Given the description of an element on the screen output the (x, y) to click on. 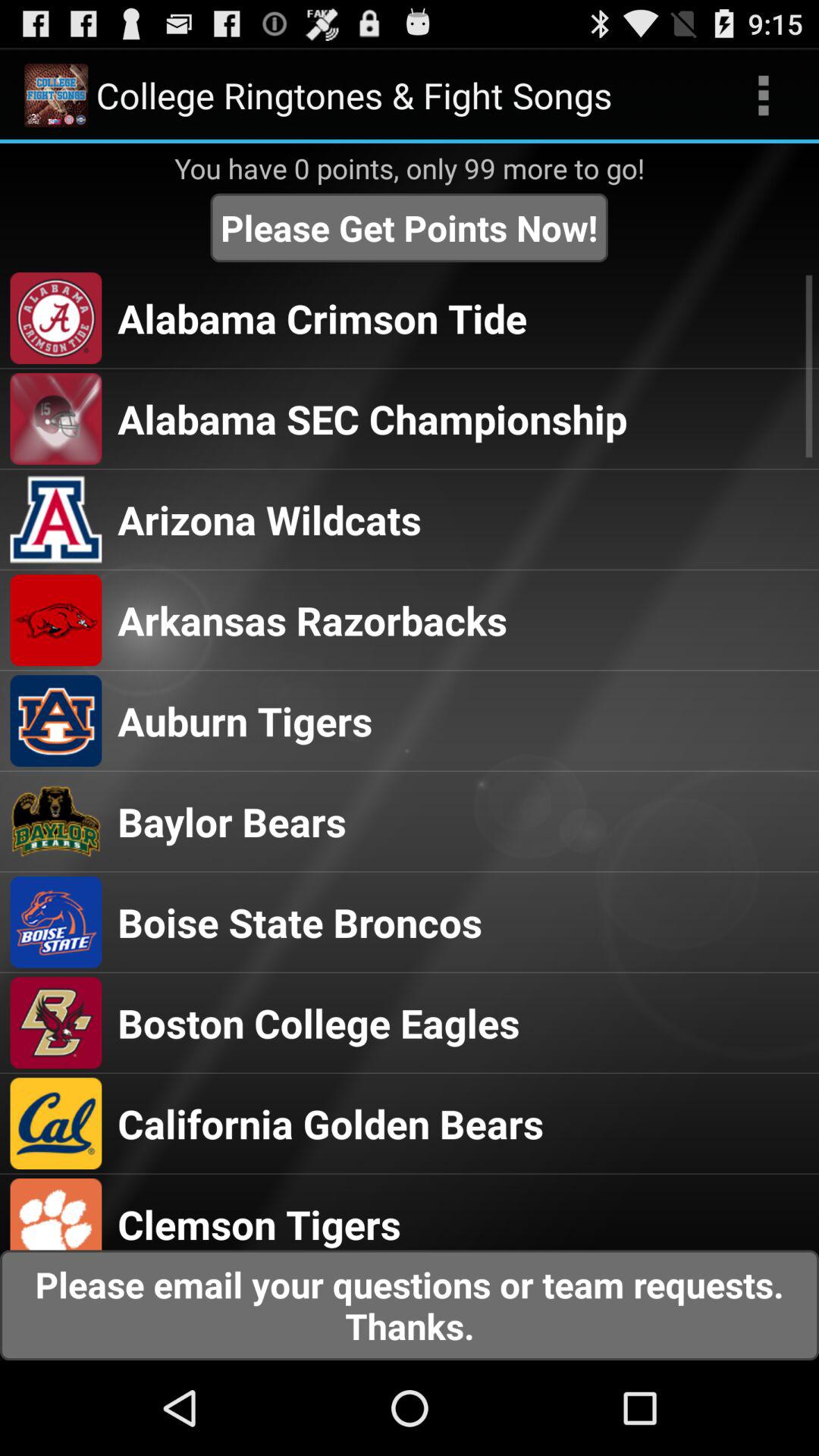
jump to the boston college eagles icon (318, 1022)
